Given the description of an element on the screen output the (x, y) to click on. 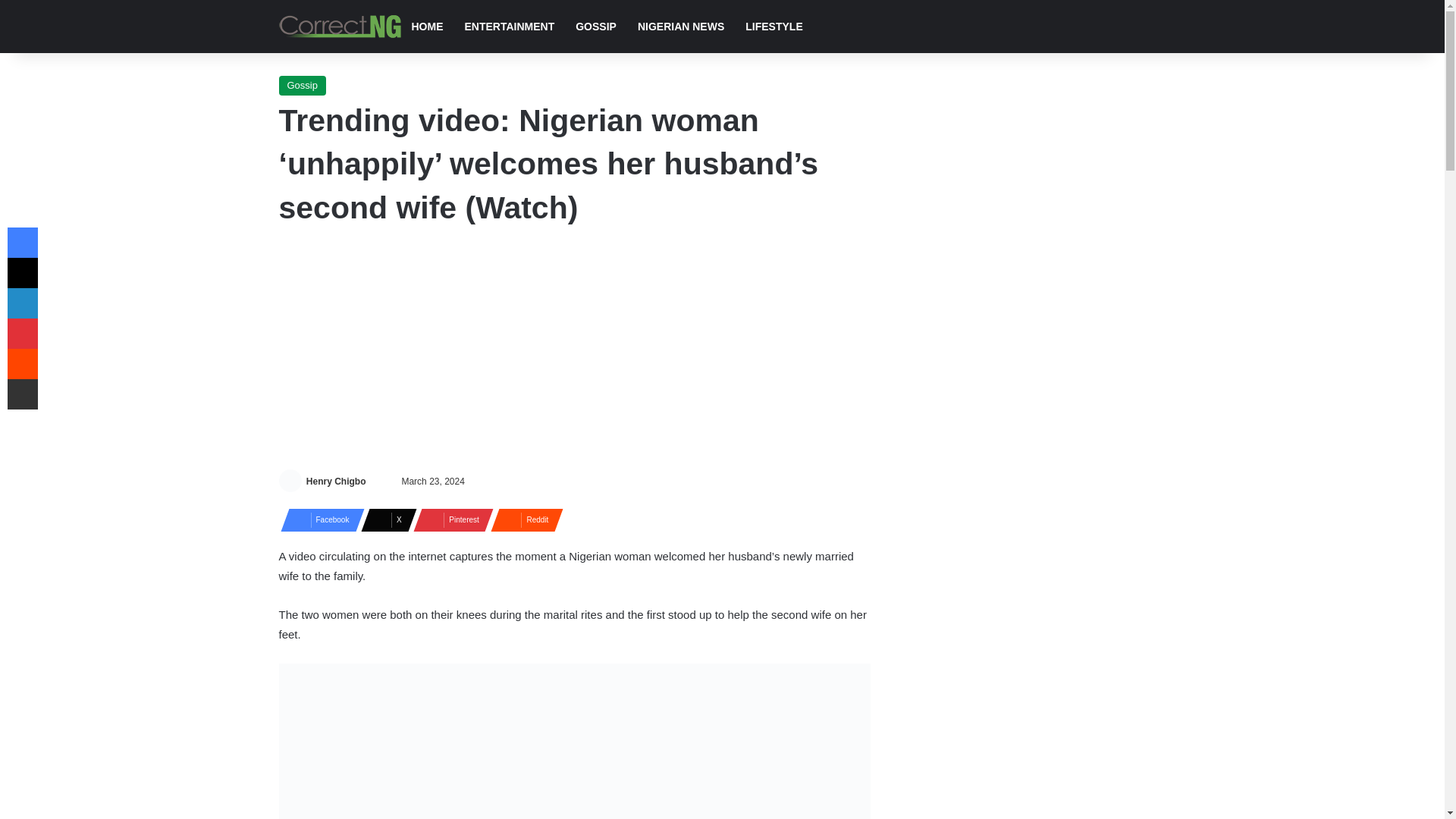
Henry Chigbo (335, 480)
Gossip (302, 85)
Pinterest (448, 518)
X (384, 518)
CorrectNG (340, 26)
NIGERIAN NEWS (681, 26)
Advertisement (574, 350)
Pinterest (448, 518)
GOSSIP (595, 26)
HOME (426, 26)
Reddit (522, 518)
X (384, 518)
Facebook (318, 518)
ENTERTAINMENT (508, 26)
Henry Chigbo (335, 480)
